Given the description of an element on the screen output the (x, y) to click on. 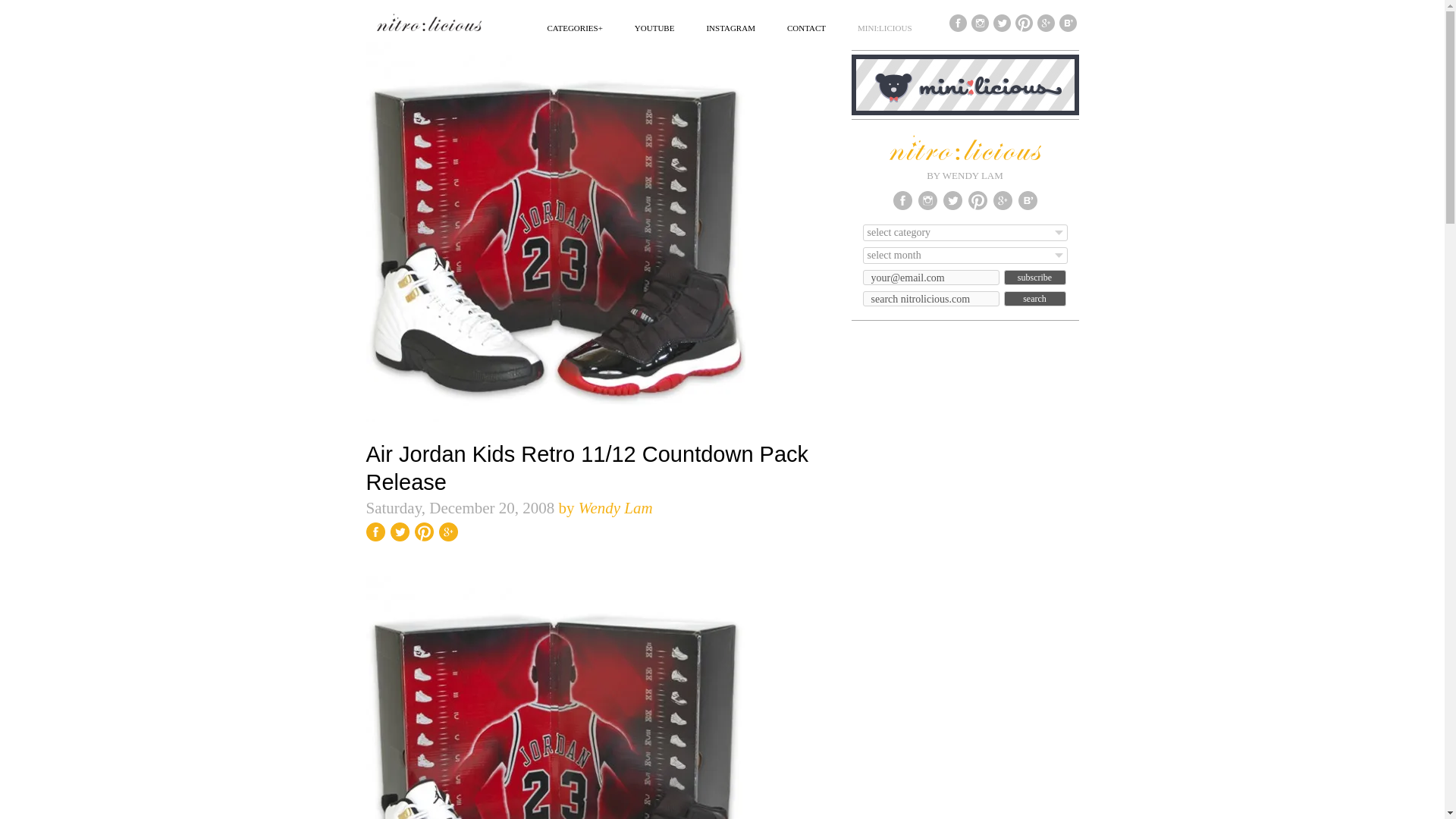
Wendy Lam (615, 507)
MINI:LICIOUS (884, 28)
YOUTUBE (654, 28)
INSTAGRAM (730, 28)
CONTACT (806, 28)
Search (1034, 298)
Subscribe (1034, 277)
